Given the description of an element on the screen output the (x, y) to click on. 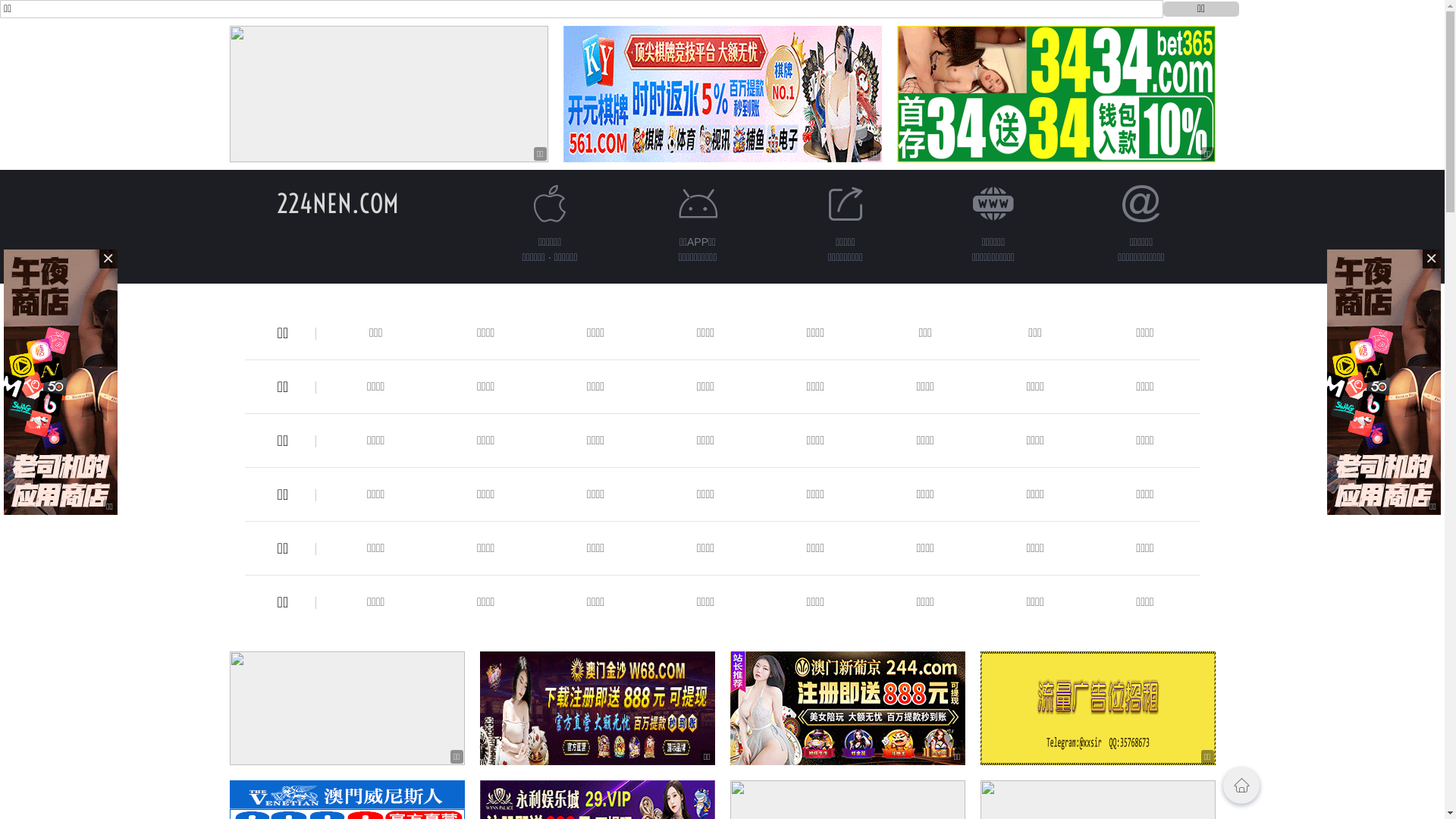
224NEN.COM Element type: text (337, 203)
